Given the description of an element on the screen output the (x, y) to click on. 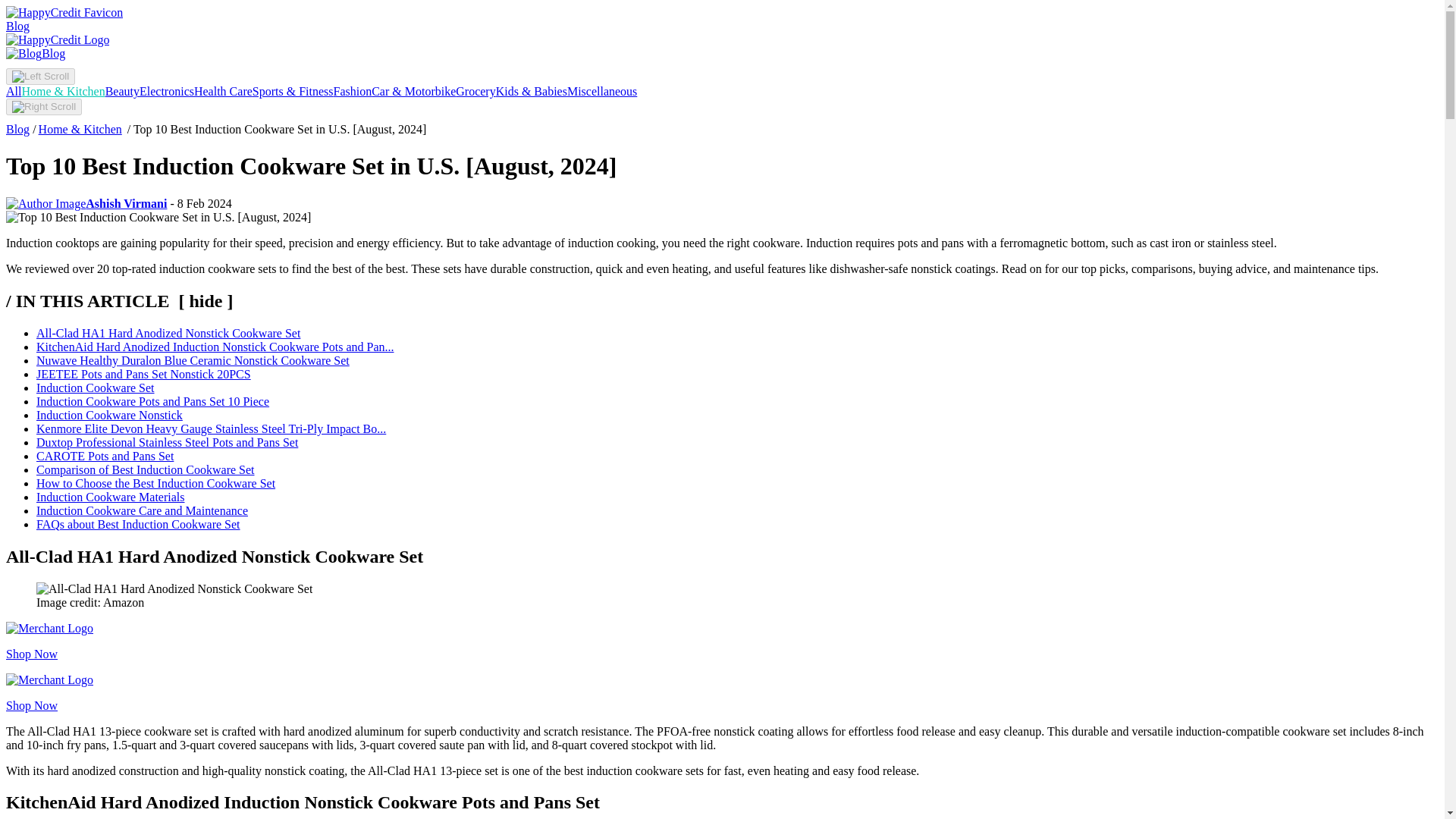
CAROTE Pots and Pans Set (104, 455)
Induction Cookware Materials (110, 496)
JEETEE Pots and Pans Set Nonstick 20PCS (143, 373)
Blog (17, 128)
Ashish Virmani (86, 203)
Induction Cookware Pots and Pans Set 10 Piece (152, 400)
Electronics (166, 91)
Miscellaneous (602, 91)
Grocery (475, 91)
